Given the description of an element on the screen output the (x, y) to click on. 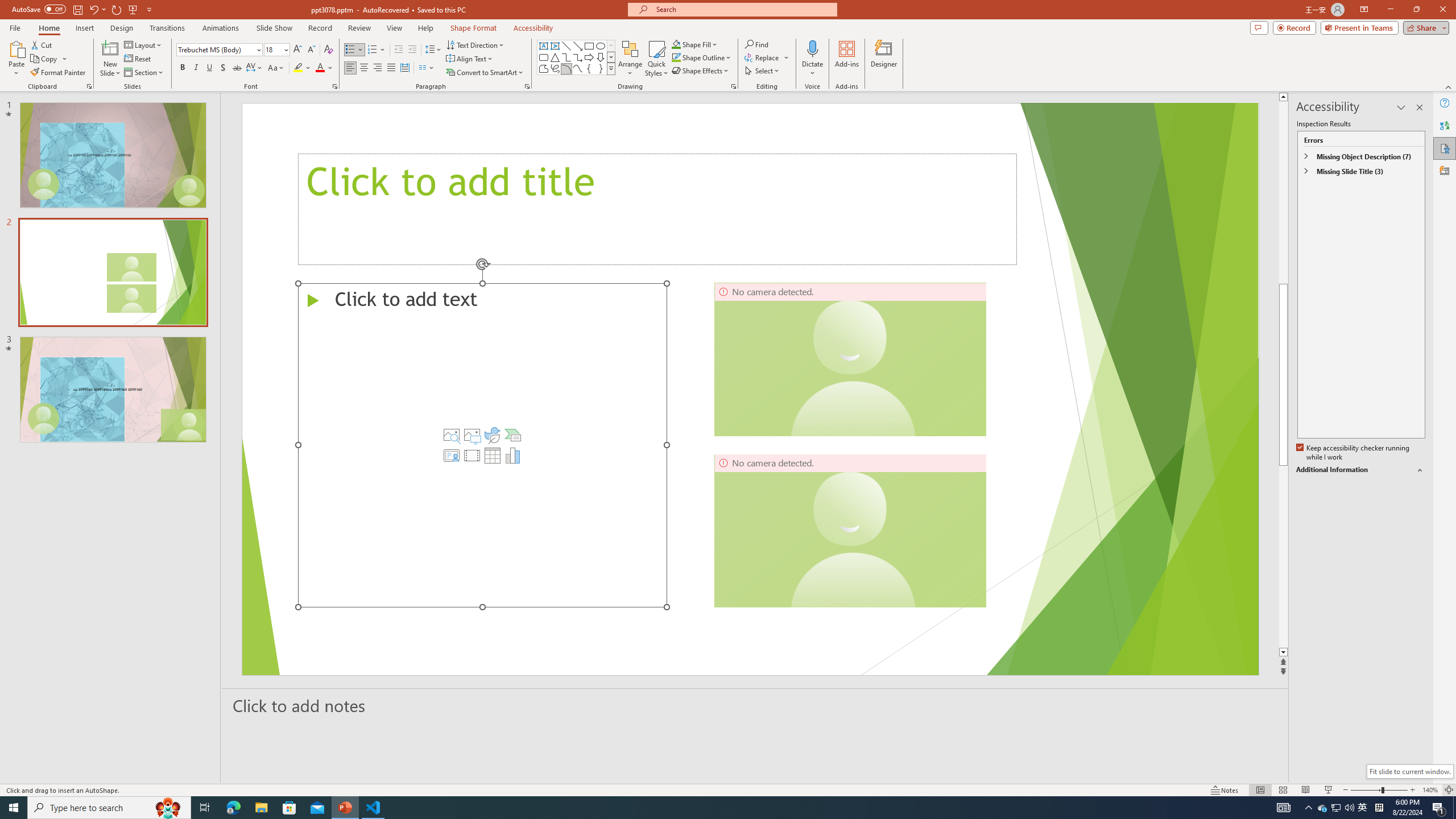
Fit slide to current window. (1410, 771)
Insert a SmartArt Graphic (512, 434)
Shape Fill Dark Green, Accent 2 (675, 44)
